Given the description of an element on the screen output the (x, y) to click on. 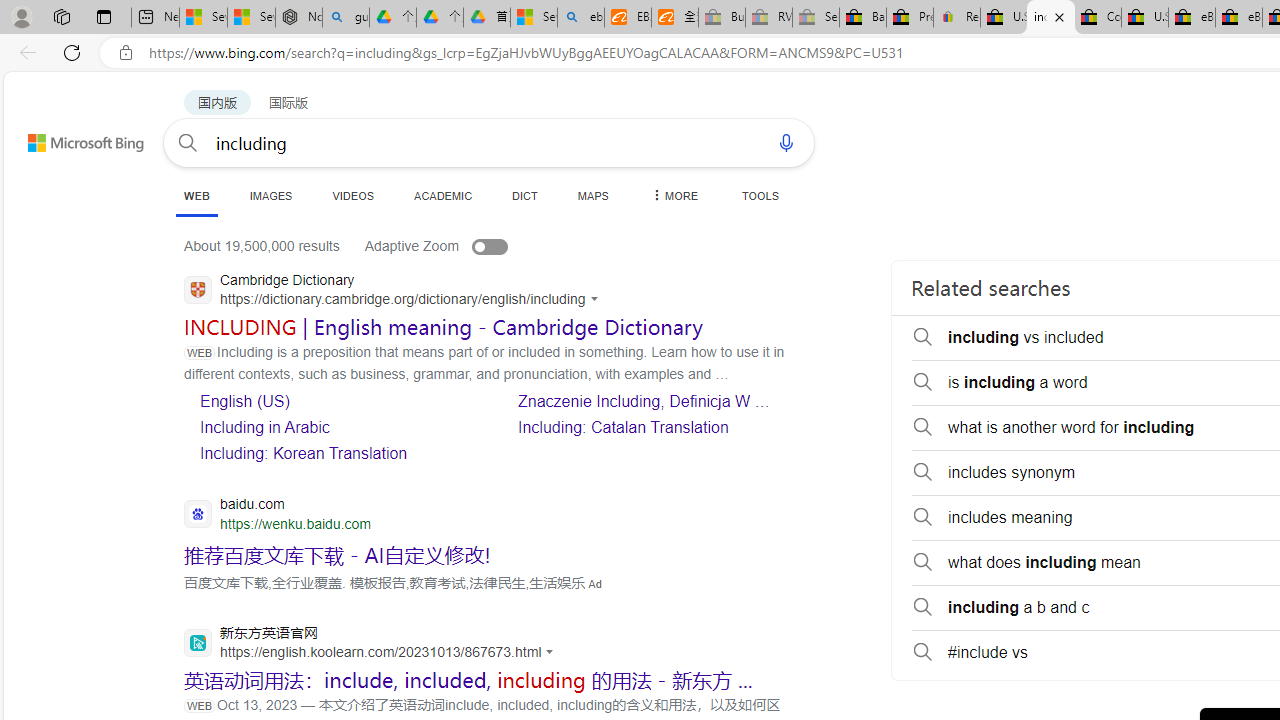
eBay Inc. Reports Third Quarter 2023 Results (1239, 17)
Global web icon (197, 642)
DICT (525, 195)
Consumer Health Data Privacy Policy - eBay Inc. (1098, 17)
IMAGES (270, 195)
Including: Korean Translation (336, 452)
ACADEMIC (443, 195)
ebay - Search (581, 17)
WEB (196, 195)
